Given the description of an element on the screen output the (x, y) to click on. 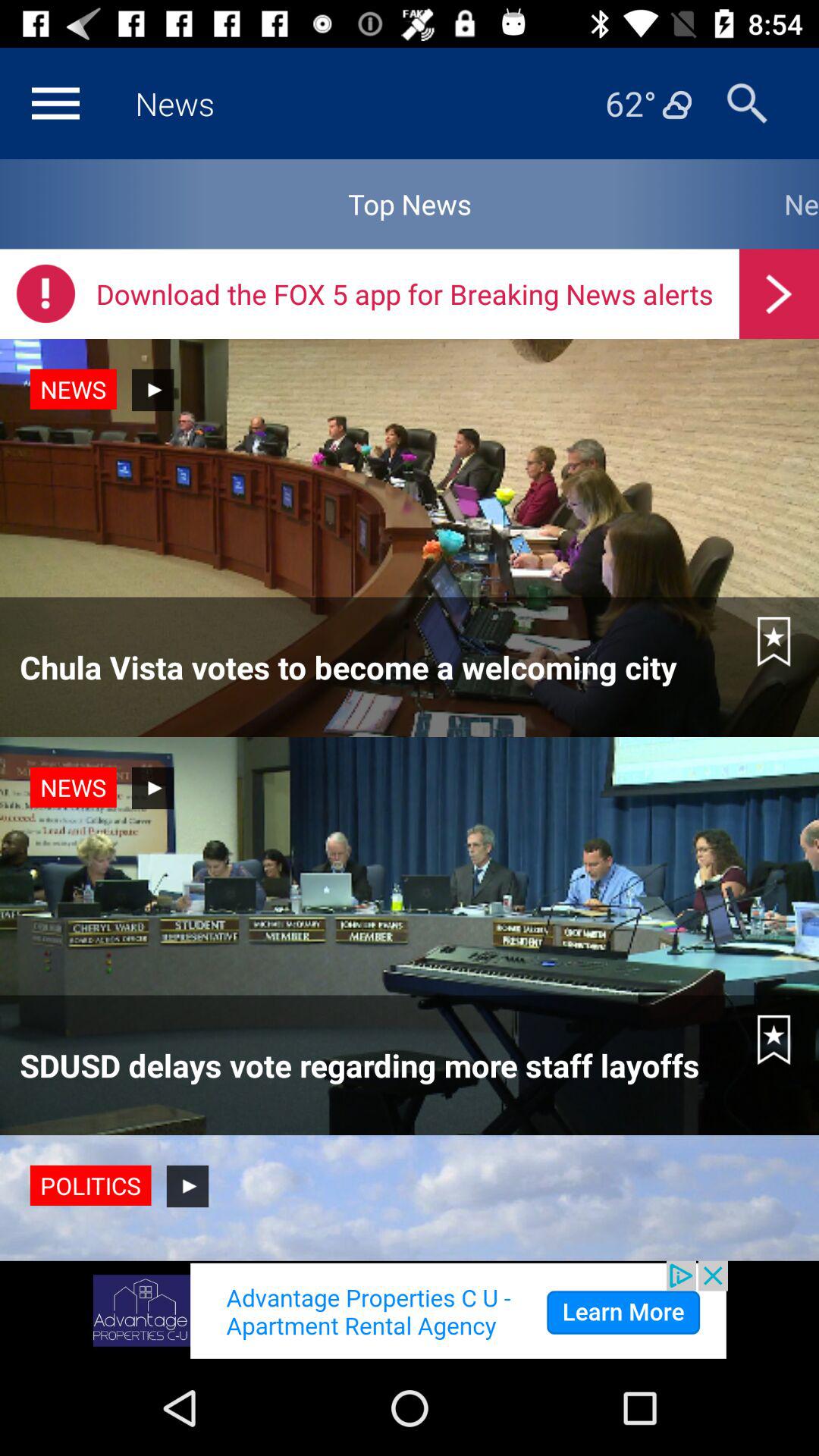
open advertisement (409, 1310)
